Given the description of an element on the screen output the (x, y) to click on. 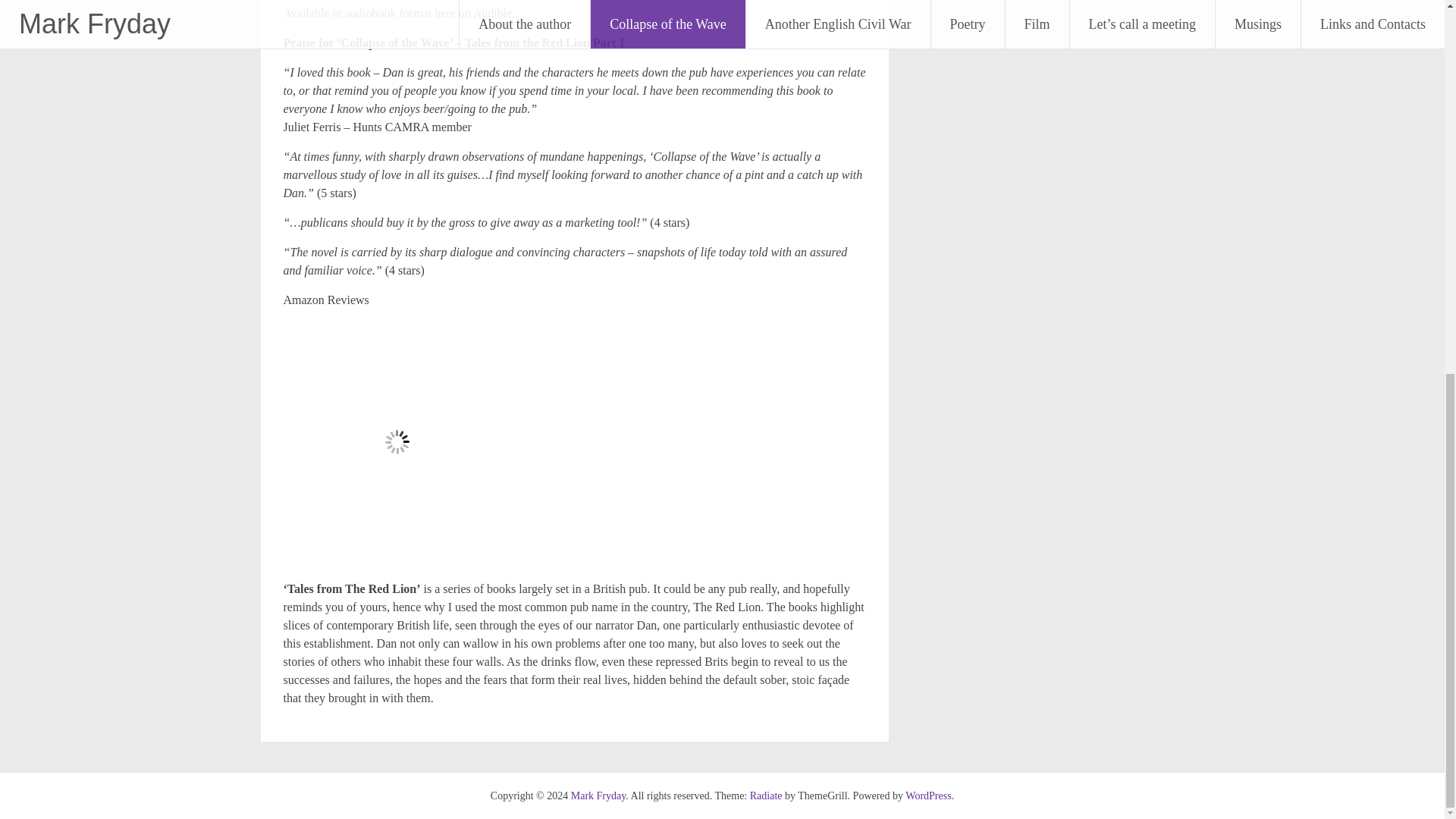
WordPress (927, 795)
Radiate (766, 795)
Mark Fryday (598, 795)
Radiate (766, 795)
here (444, 12)
WordPress (927, 795)
Mark Fryday (598, 795)
